Given the description of an element on the screen output the (x, y) to click on. 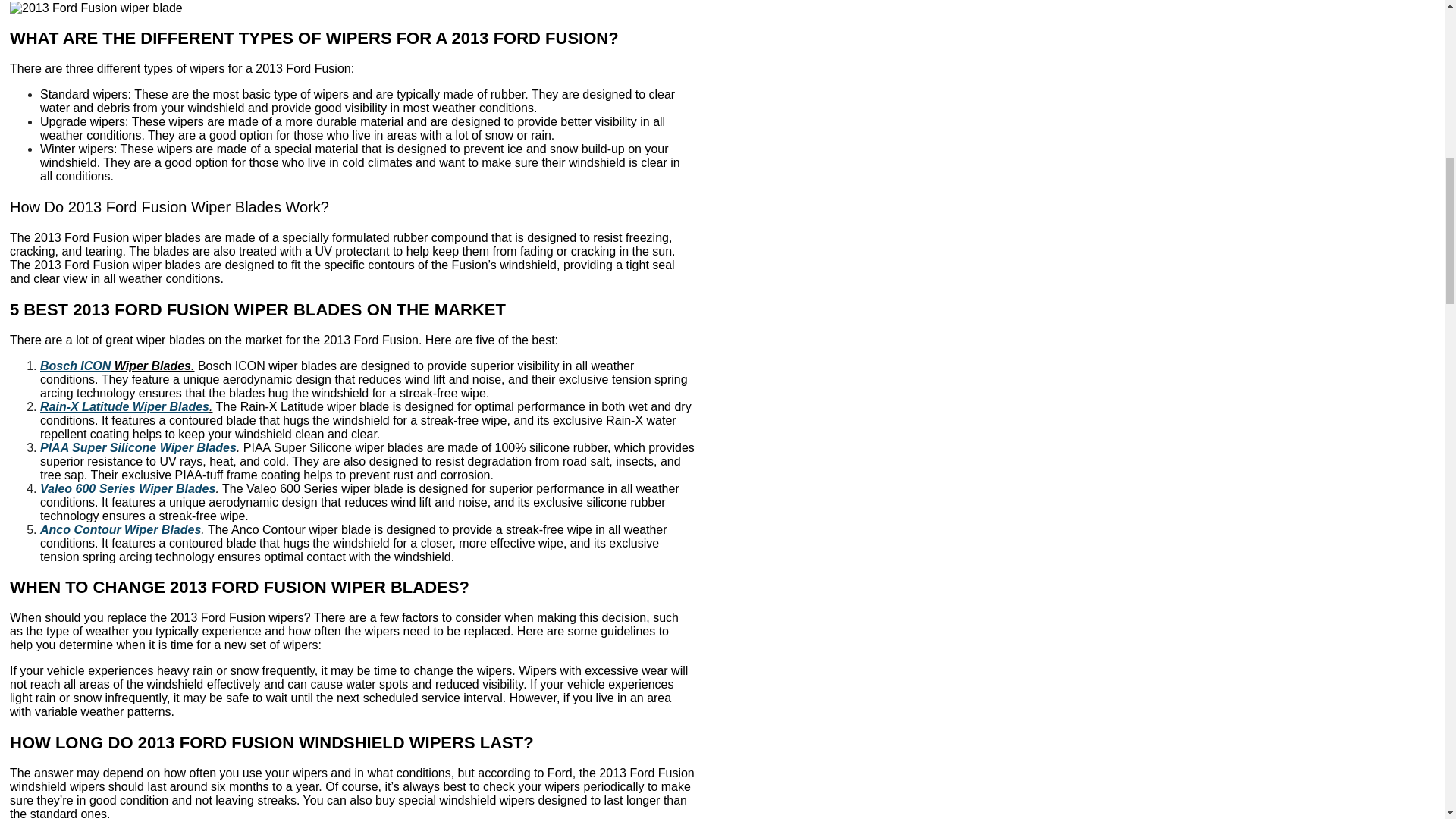
Scroll back to top (1406, 720)
Rain-X Latitude Wiper Blades (124, 406)
PIAA Super Silicone Wiper Blades (137, 447)
Valeo 600 Series Wiper Blades (127, 488)
Anco Contour Wiper Blades (120, 529)
Bosch ICON (75, 365)
